Given the description of an element on the screen output the (x, y) to click on. 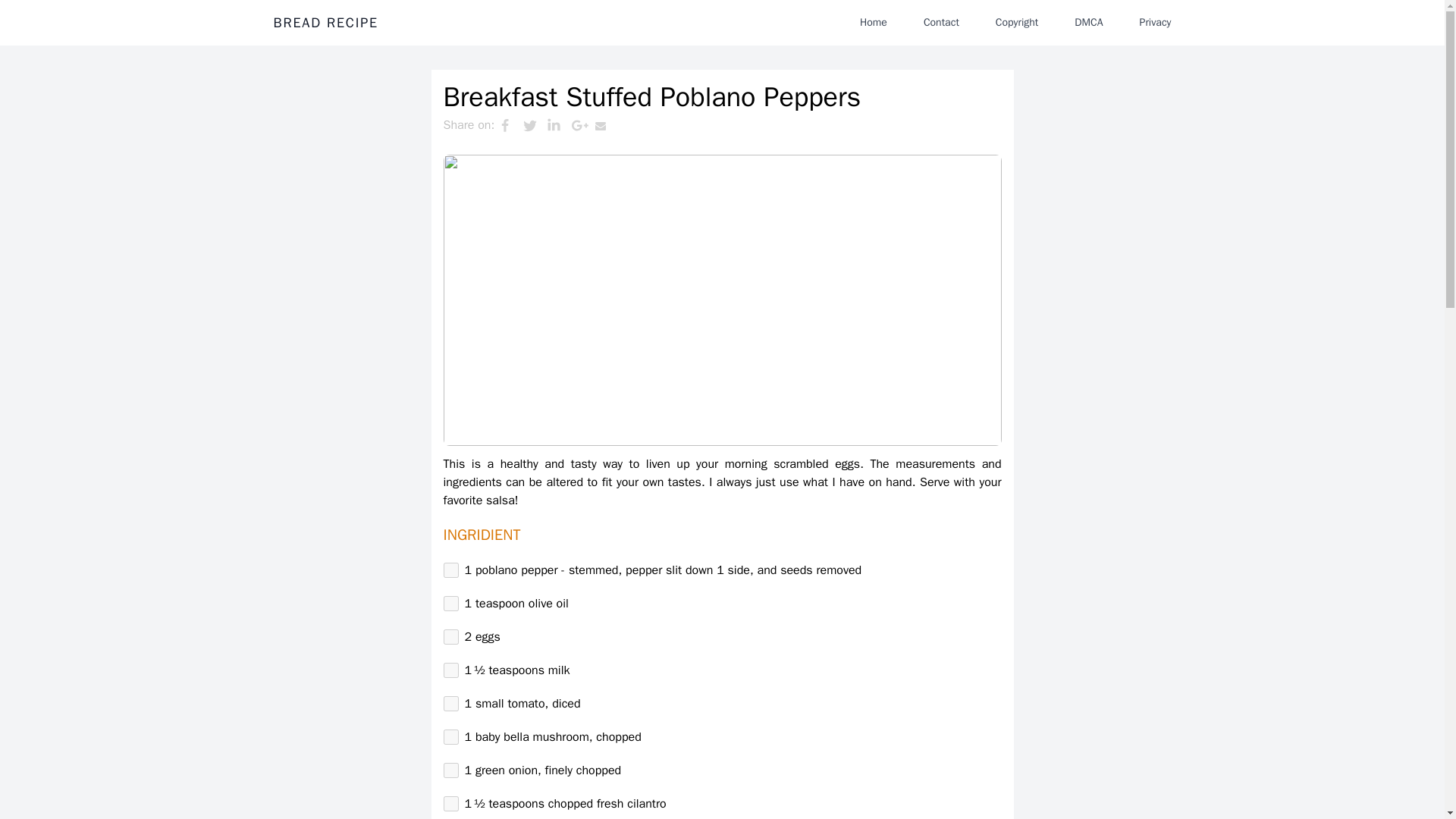
on (450, 570)
on (450, 803)
on (450, 770)
Home (873, 22)
Share this on Linkedin (558, 125)
on (450, 636)
DMCA (1088, 22)
Copyright (1016, 22)
on (450, 670)
Privacy (1154, 22)
Share this on Twitter (534, 125)
BREAD RECIPE (325, 22)
on (450, 736)
Contact (941, 22)
Share this through Email (607, 125)
